Given the description of an element on the screen output the (x, y) to click on. 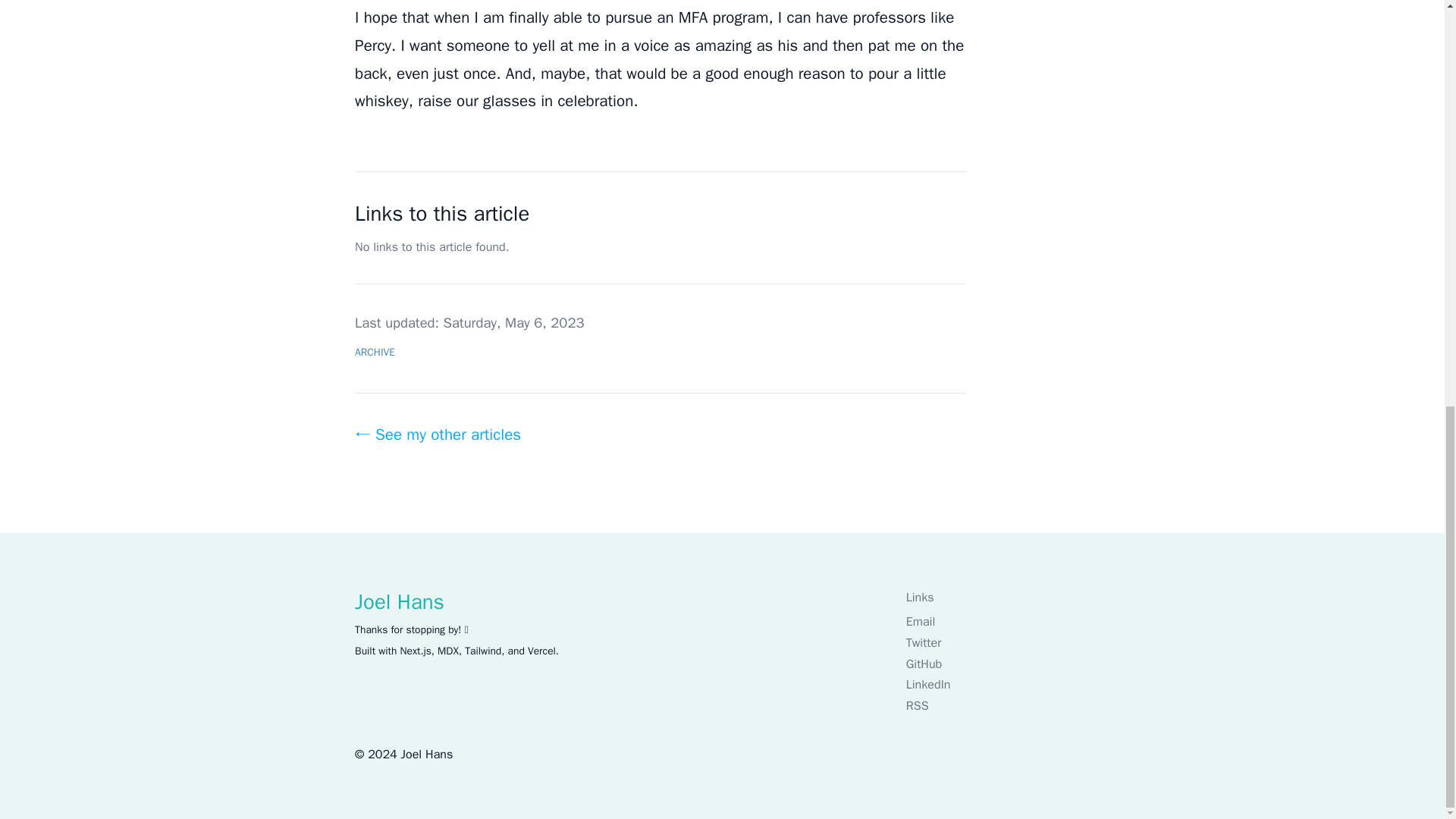
ARCHIVE (374, 351)
LinkedIn (997, 683)
Email (997, 620)
RSS (997, 705)
GitHub (997, 662)
Joel Hans (426, 754)
Twitter (997, 642)
